Given the description of an element on the screen output the (x, y) to click on. 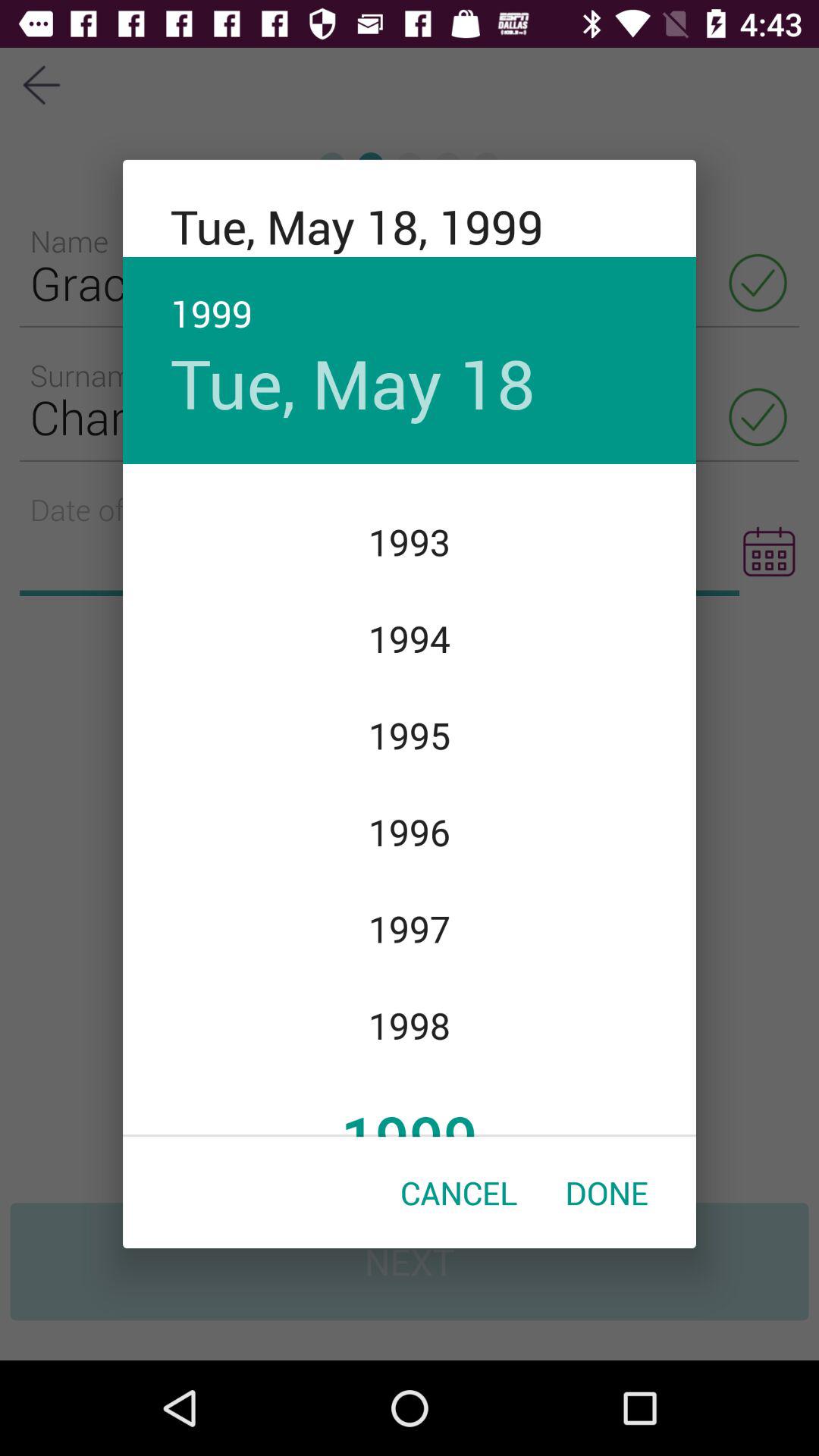
select the done (606, 1192)
